Given the description of an element on the screen output the (x, y) to click on. 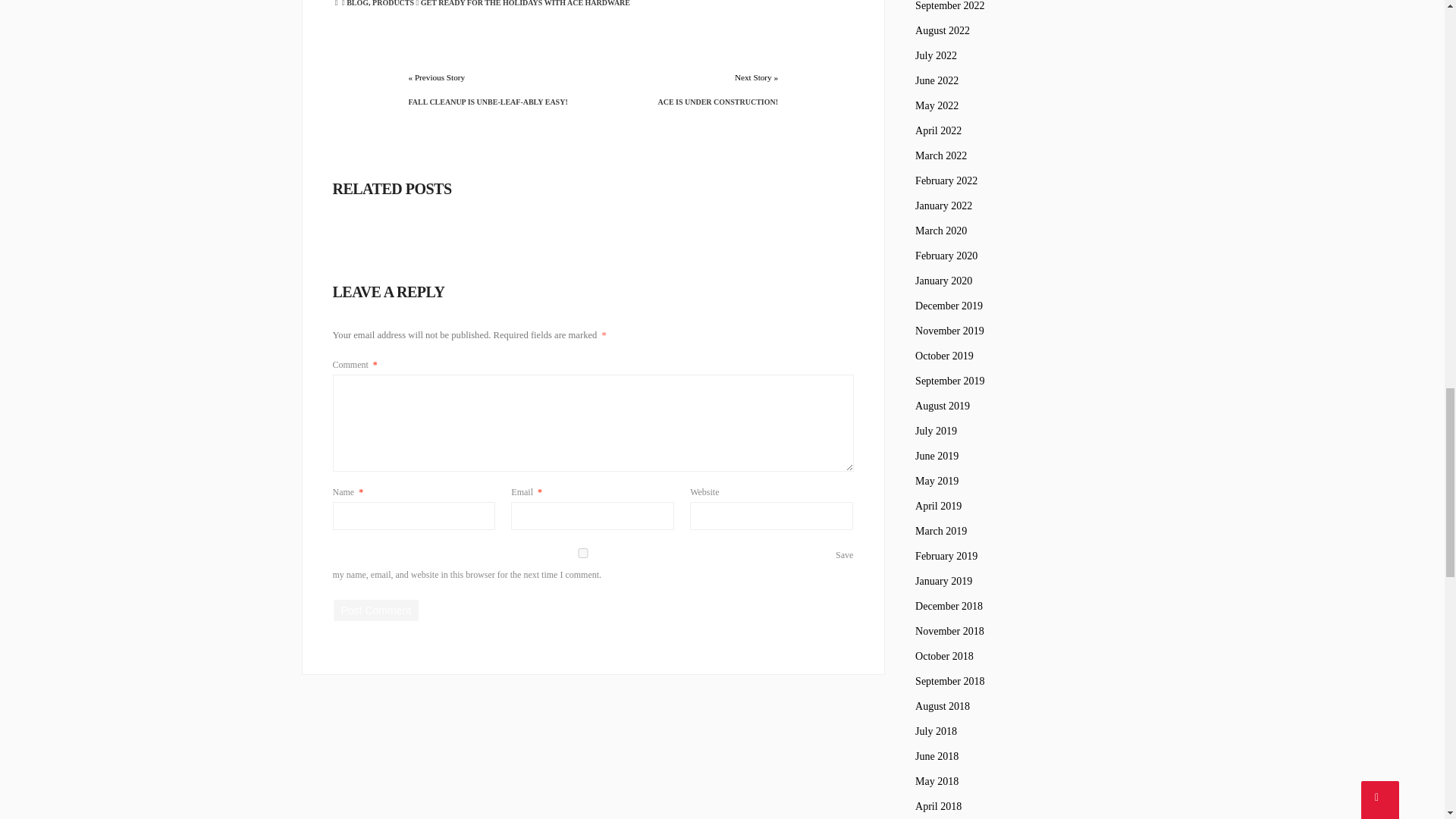
PRODUCTS (392, 3)
yes (581, 552)
FALL CLEANUP IS UNBE-LEAF-ABLY EASY! (494, 102)
BLOG (357, 3)
Post Comment (376, 609)
